Given the description of an element on the screen output the (x, y) to click on. 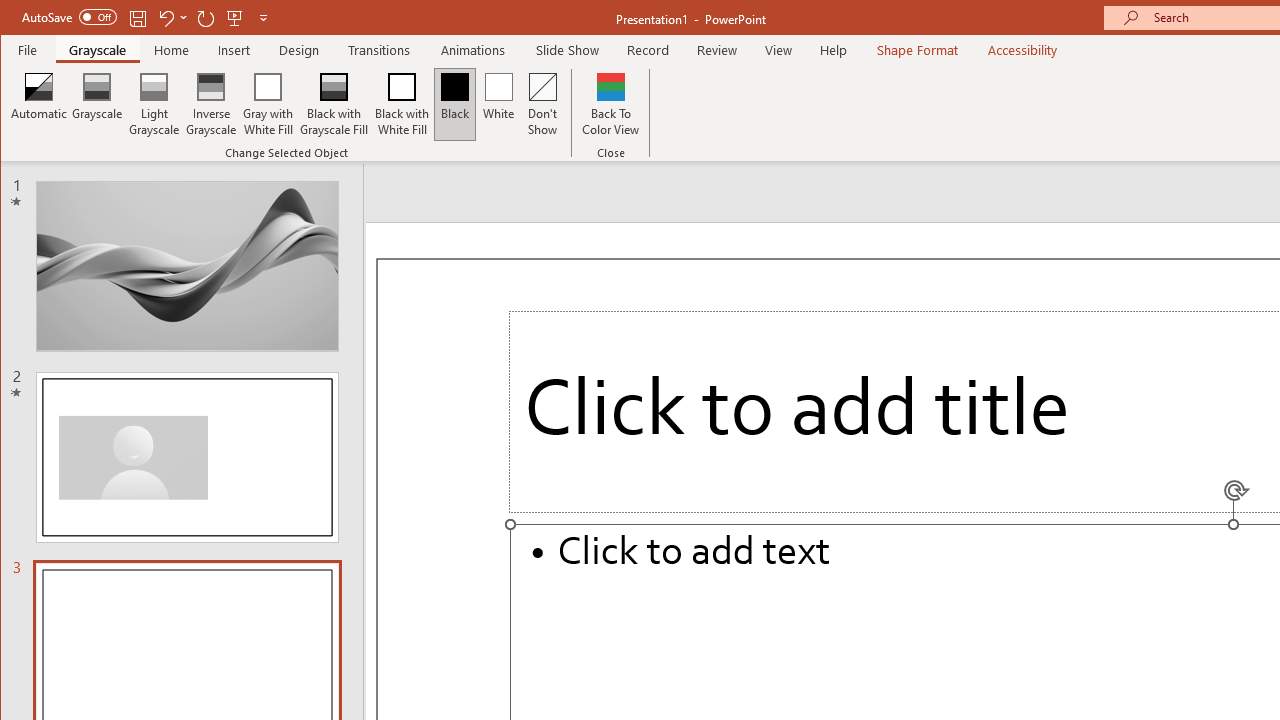
Black (454, 104)
Gray with White Fill (267, 104)
Back To Color View (610, 104)
